Given the description of an element on the screen output the (x, y) to click on. 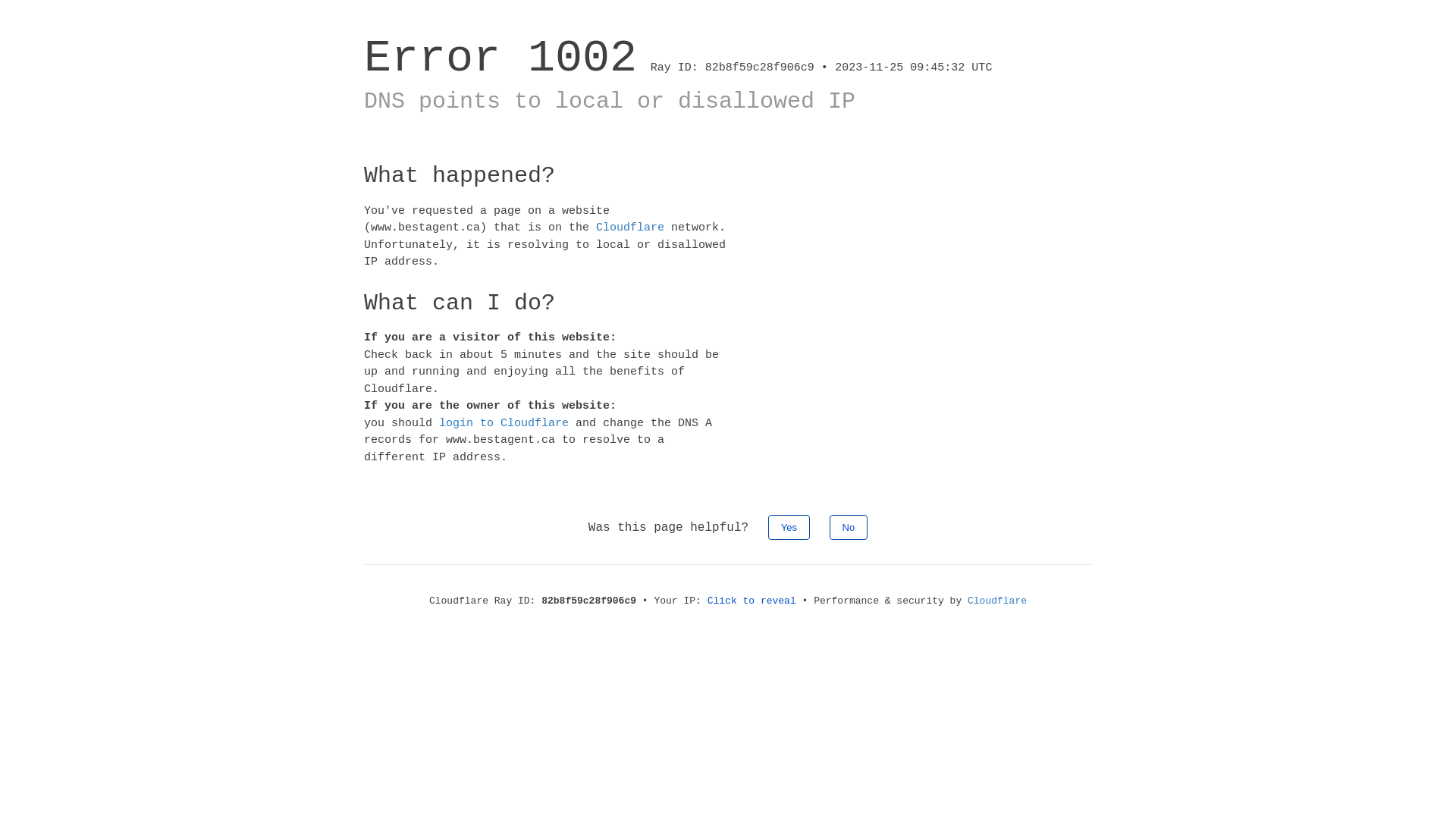
Yes Element type: text (788, 526)
Click to reveal Element type: text (751, 600)
No Element type: text (848, 526)
Cloudflare Element type: text (630, 227)
Cloudflare Element type: text (996, 600)
login to Cloudflare Element type: text (503, 423)
